Given the description of an element on the screen output the (x, y) to click on. 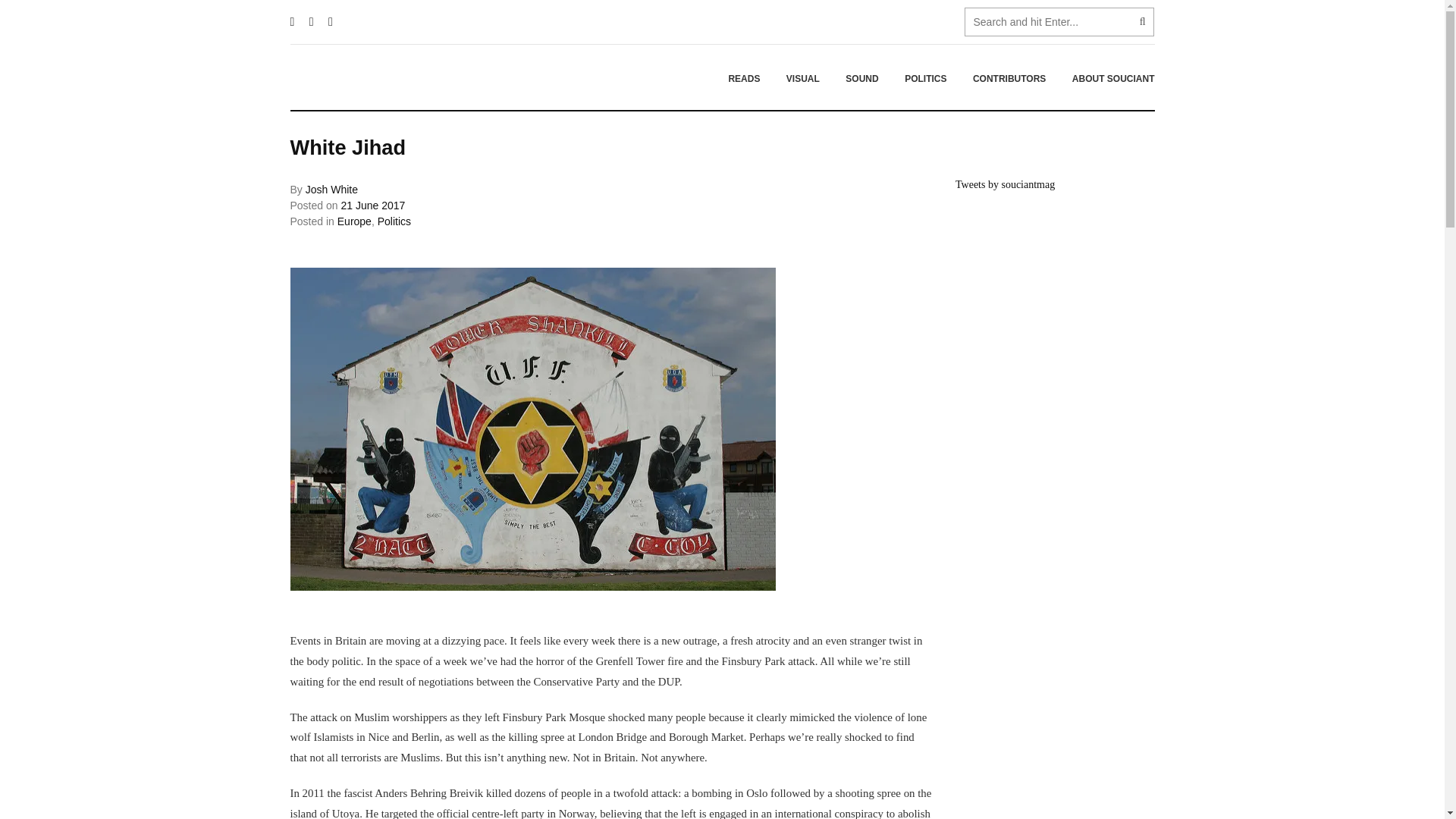
21 June 2017 (372, 205)
SOUND (861, 78)
READS (743, 78)
ABOUT SOUCIANT (1107, 78)
Tweets by souciantmag (1004, 184)
Europe (354, 221)
POLITICS (925, 78)
Souciant (384, 77)
VISUAL (802, 78)
Josh White (331, 189)
